Given the description of an element on the screen output the (x, y) to click on. 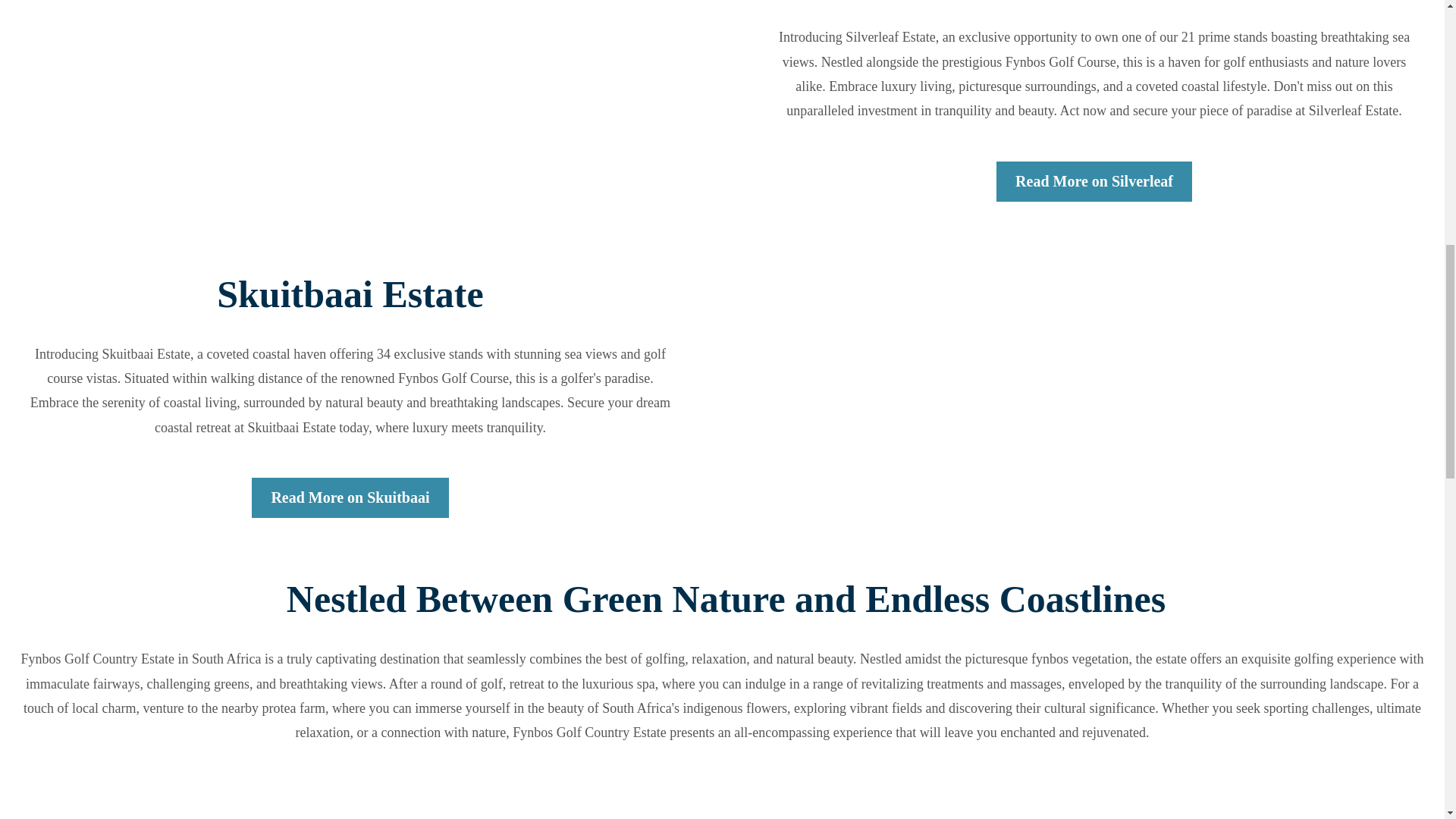
Read More on Skuitbaai (349, 497)
Read More on Silverleaf (1093, 181)
